Given the description of an element on the screen output the (x, y) to click on. 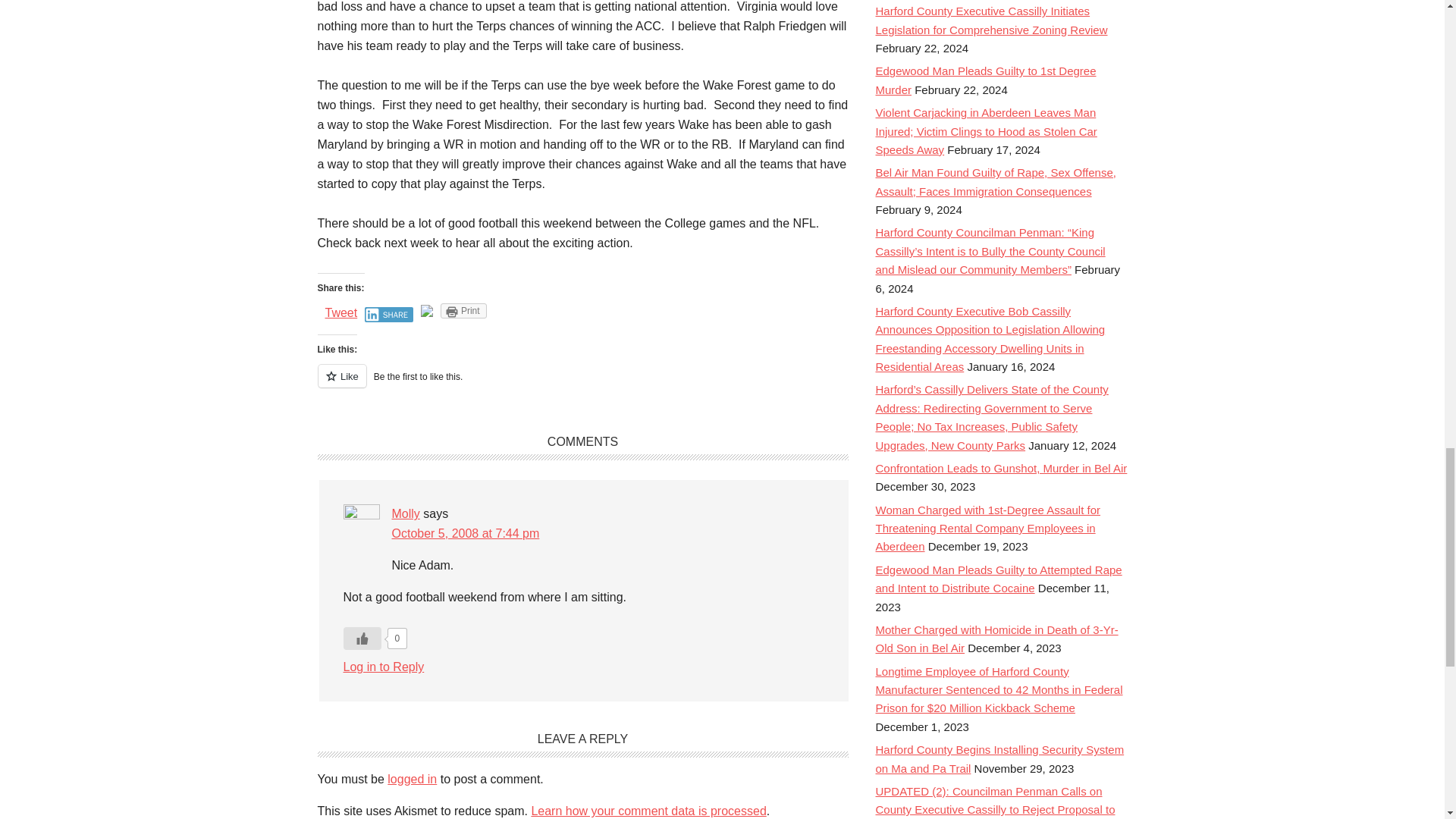
Click to print (463, 310)
SHARE (389, 314)
Print (463, 310)
Learn how your comment data is processed (648, 810)
logged in (411, 779)
October 5, 2008 at 7:44 pm (464, 533)
Molly (405, 513)
Log in to Reply (382, 666)
Tweet (340, 312)
